Given the description of an element on the screen output the (x, y) to click on. 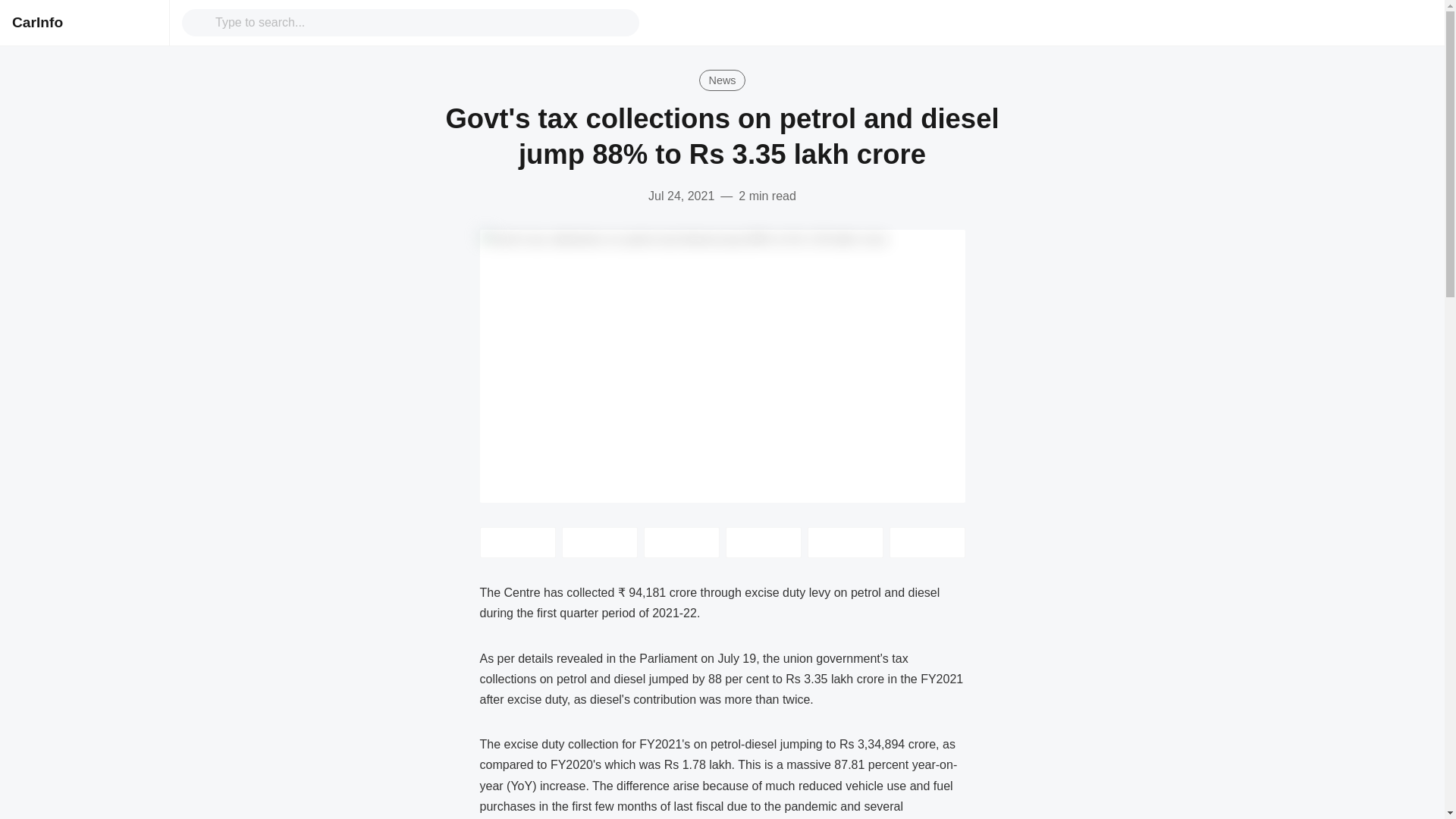
CarInfo (36, 22)
Bookmark (925, 542)
News (721, 79)
Search (201, 22)
Search (421, 22)
Copy to clipboard (844, 542)
Menu (144, 22)
Share on Facebook (598, 542)
Share on Twitter (516, 542)
Share on Linkedin (681, 542)
News (721, 79)
Share by email (762, 542)
